Given the description of an element on the screen output the (x, y) to click on. 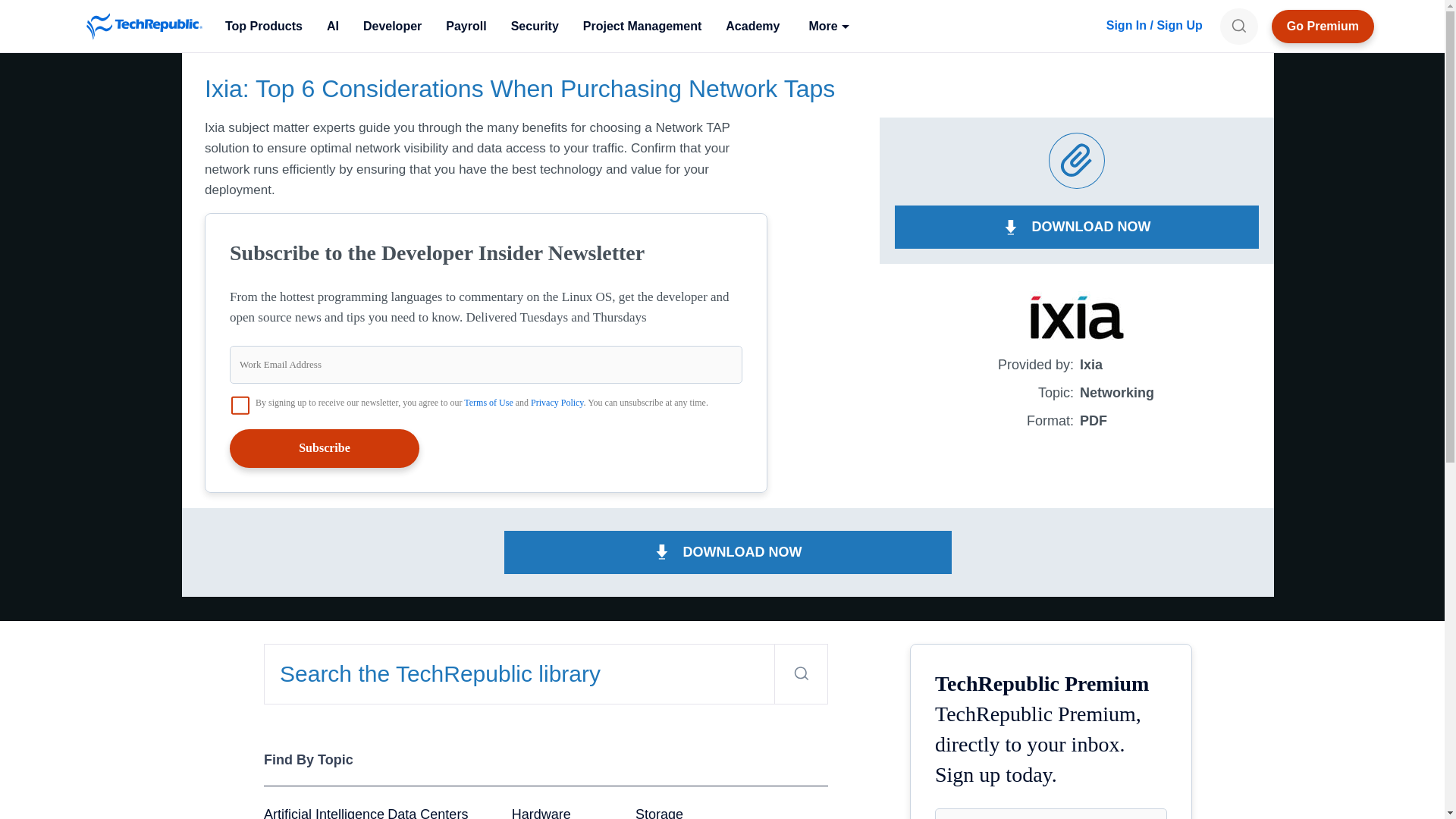
AI (332, 26)
Privacy Policy (557, 402)
DOWNLOAD NOW (727, 552)
Project Management (641, 26)
Subscribe (324, 447)
Academy (752, 26)
on (239, 405)
TechRepublic (143, 25)
DOWNLOAD NOW (1077, 226)
TechRepublic (143, 25)
Go Premium (1322, 25)
Terms of Use (488, 402)
Payroll (465, 26)
TechRepublic Premium (1322, 25)
Developer (392, 26)
